Given the description of an element on the screen output the (x, y) to click on. 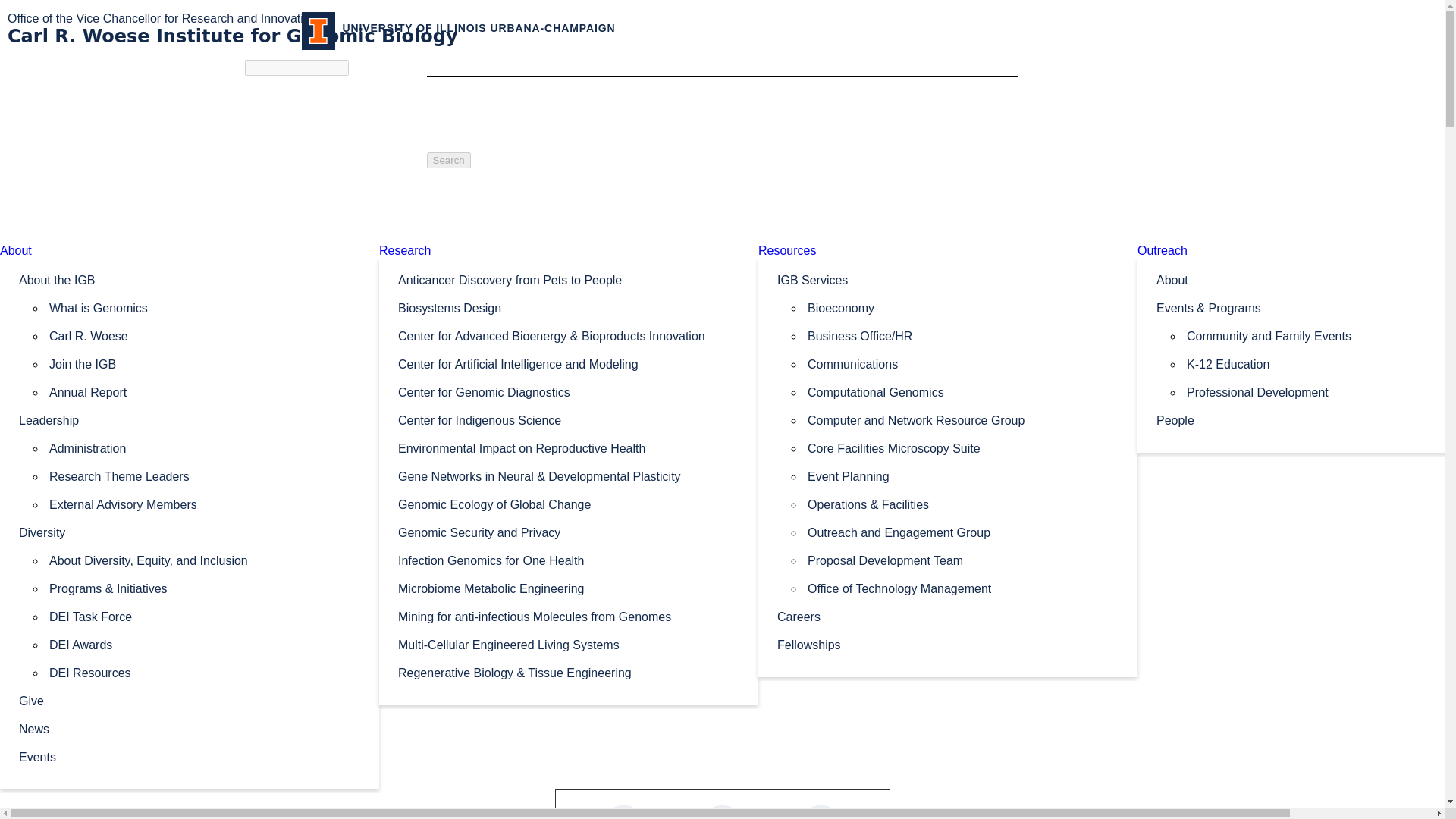
Carl R. Woese (204, 335)
About (16, 250)
Anticancer Discovery from Pets to People (568, 279)
News (189, 728)
Leadership (189, 419)
Leadership (189, 419)
External Advisory Members (204, 503)
Research Theme Leaders (204, 475)
DEI Awards (204, 643)
News (189, 728)
Biosystems Design (568, 307)
DEI Resources (204, 672)
About the IGB (189, 279)
Environmental Impact on Reproductive Health (568, 447)
